Given the description of an element on the screen output the (x, y) to click on. 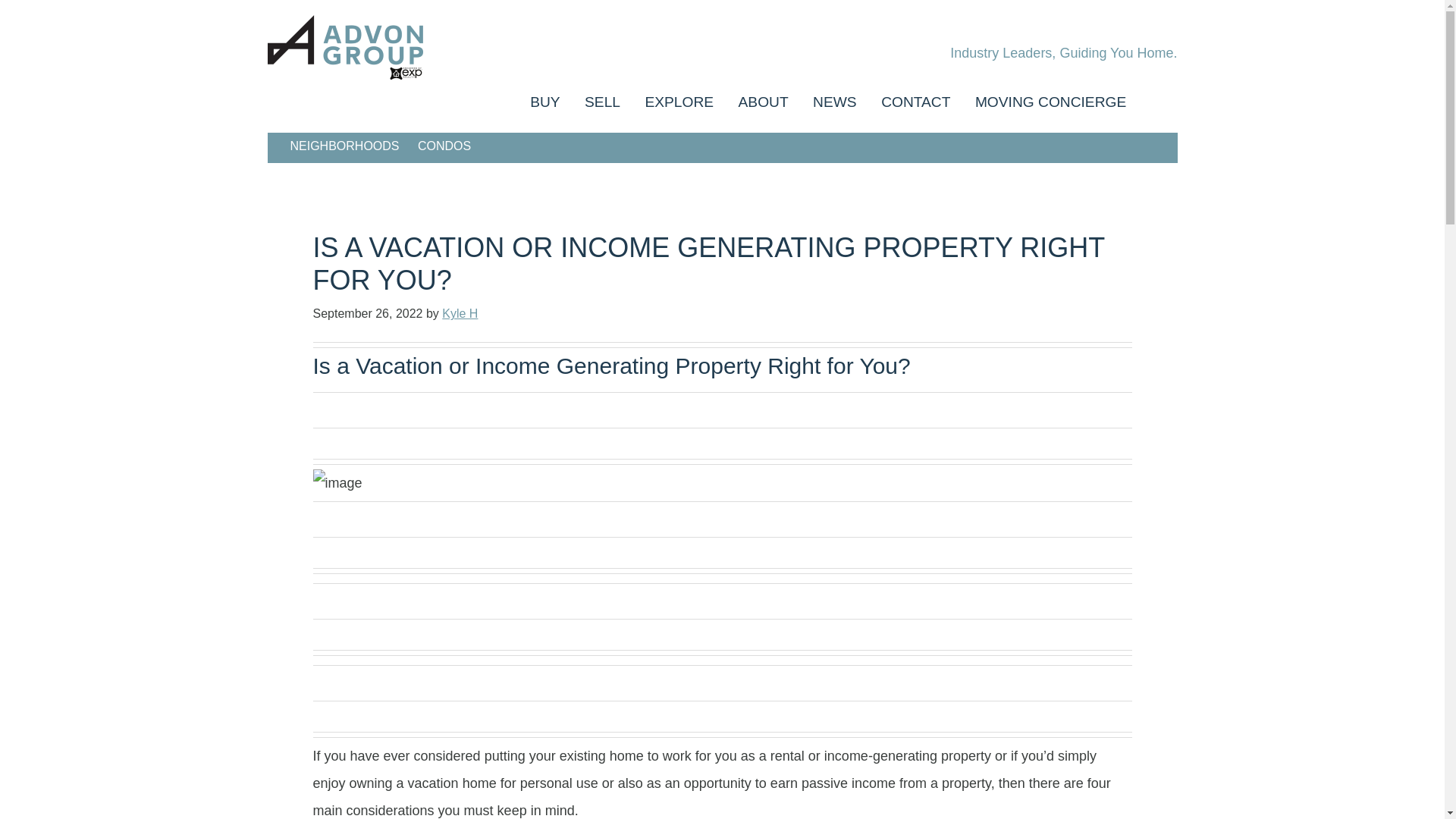
NEWS (834, 101)
CONTACT (915, 101)
EXPLORE (678, 101)
SELL (601, 101)
NEIGHBORHOODS (344, 145)
CONDOS (444, 145)
Kyle H (459, 313)
Advon (403, 47)
ABOUT (763, 101)
MOVING CONCIERGE (1050, 101)
